Given the description of an element on the screen output the (x, y) to click on. 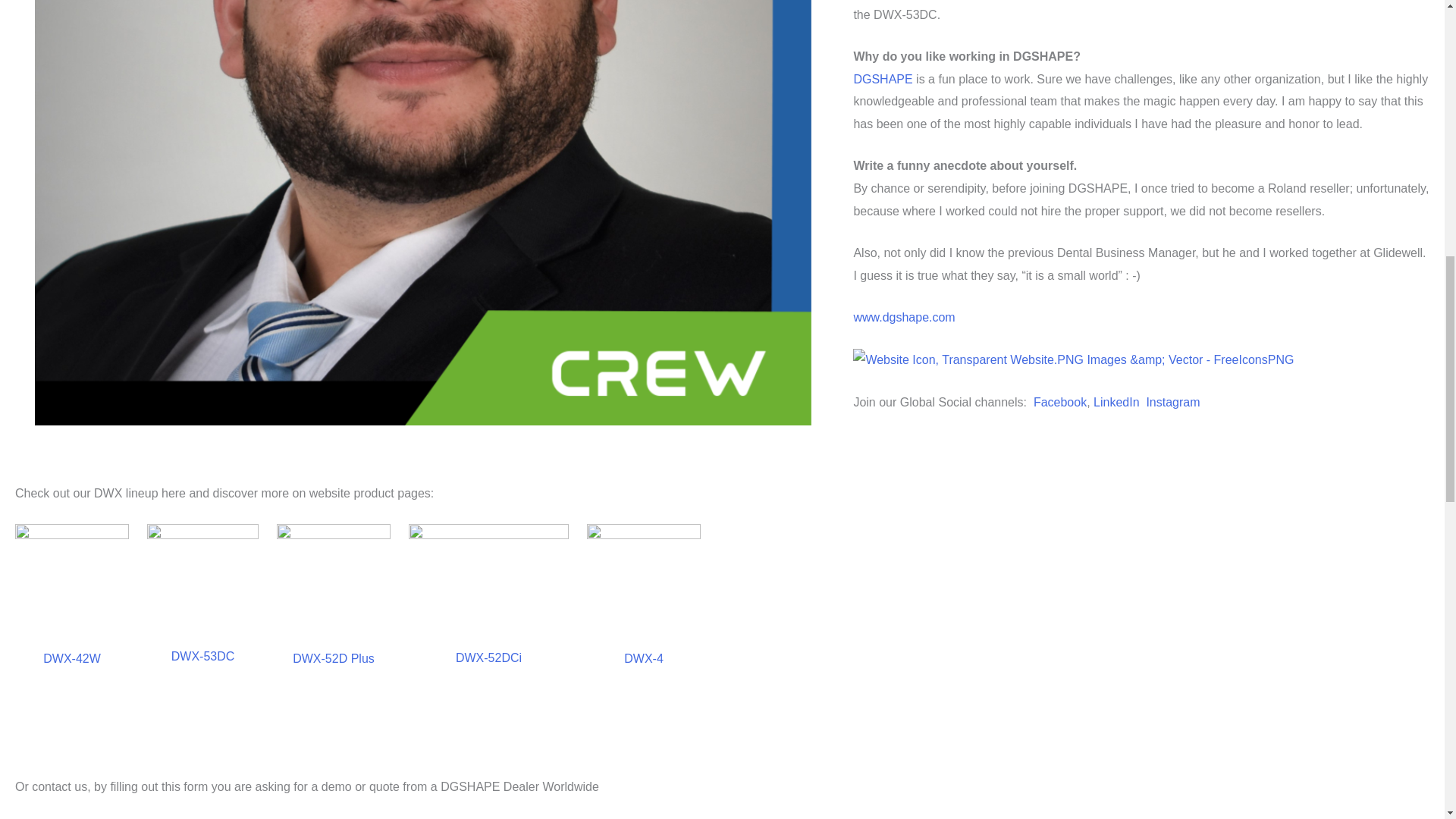
Facebook (1059, 401)
DWX-52D Plus (333, 658)
DWX-53DC (202, 656)
 Instagram (1170, 401)
DGSHAPE (882, 78)
LinkedIn  (1117, 401)
DWX-42W (71, 658)
DWX-4 (643, 658)
DWX-52DCi (488, 657)
www.dgshape.com (904, 317)
